Given the description of an element on the screen output the (x, y) to click on. 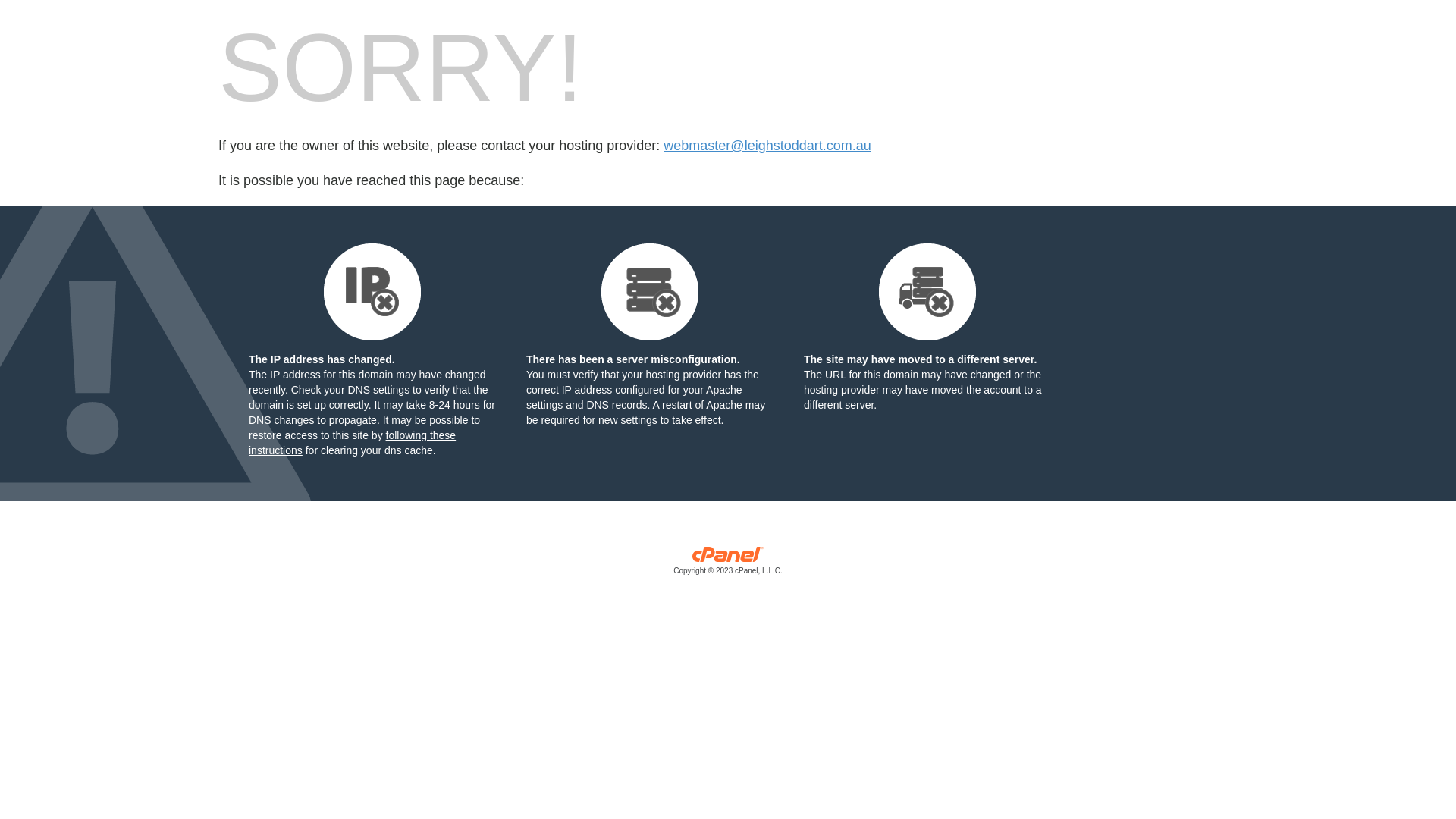
webmaster@leighstoddart.com.au Element type: text (766, 145)
following these instructions Element type: text (351, 442)
